Given the description of an element on the screen output the (x, y) to click on. 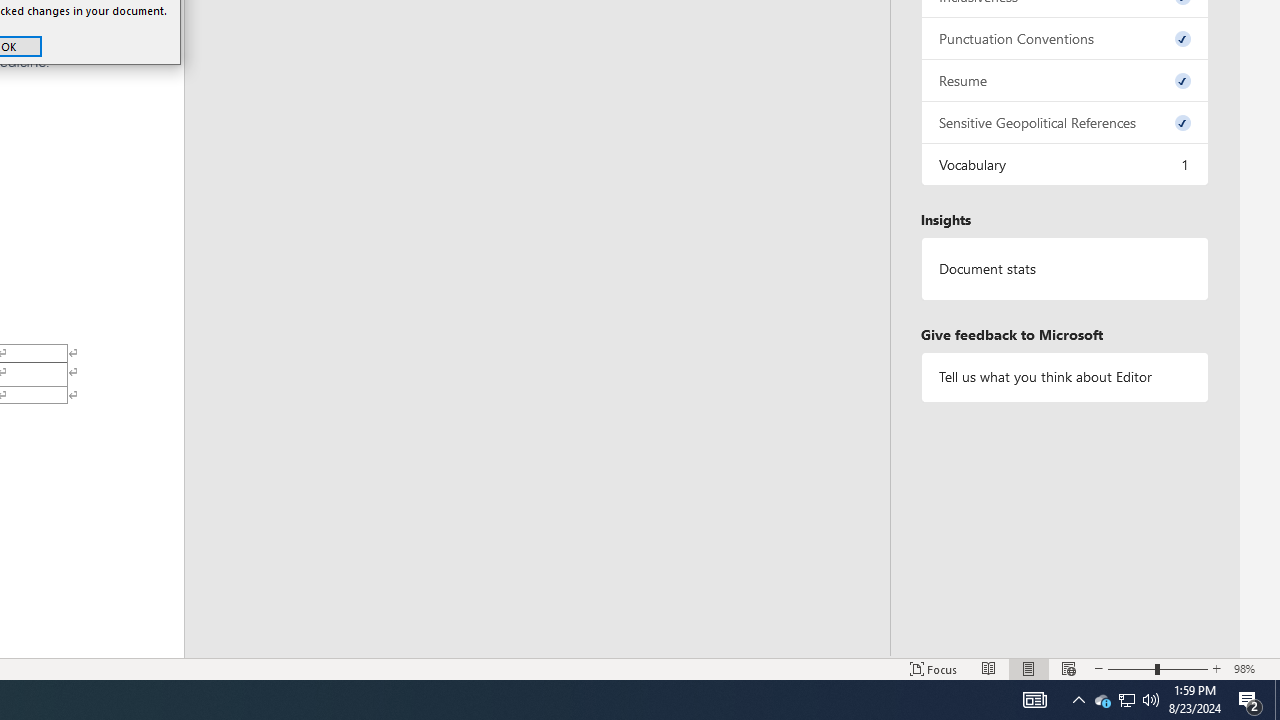
Tell us what you think about Editor (1102, 699)
AutomationID: 4105 (1064, 376)
Q2790: 100% (1034, 699)
Action Center, 2 new notifications (1151, 699)
